Given the description of an element on the screen output the (x, y) to click on. 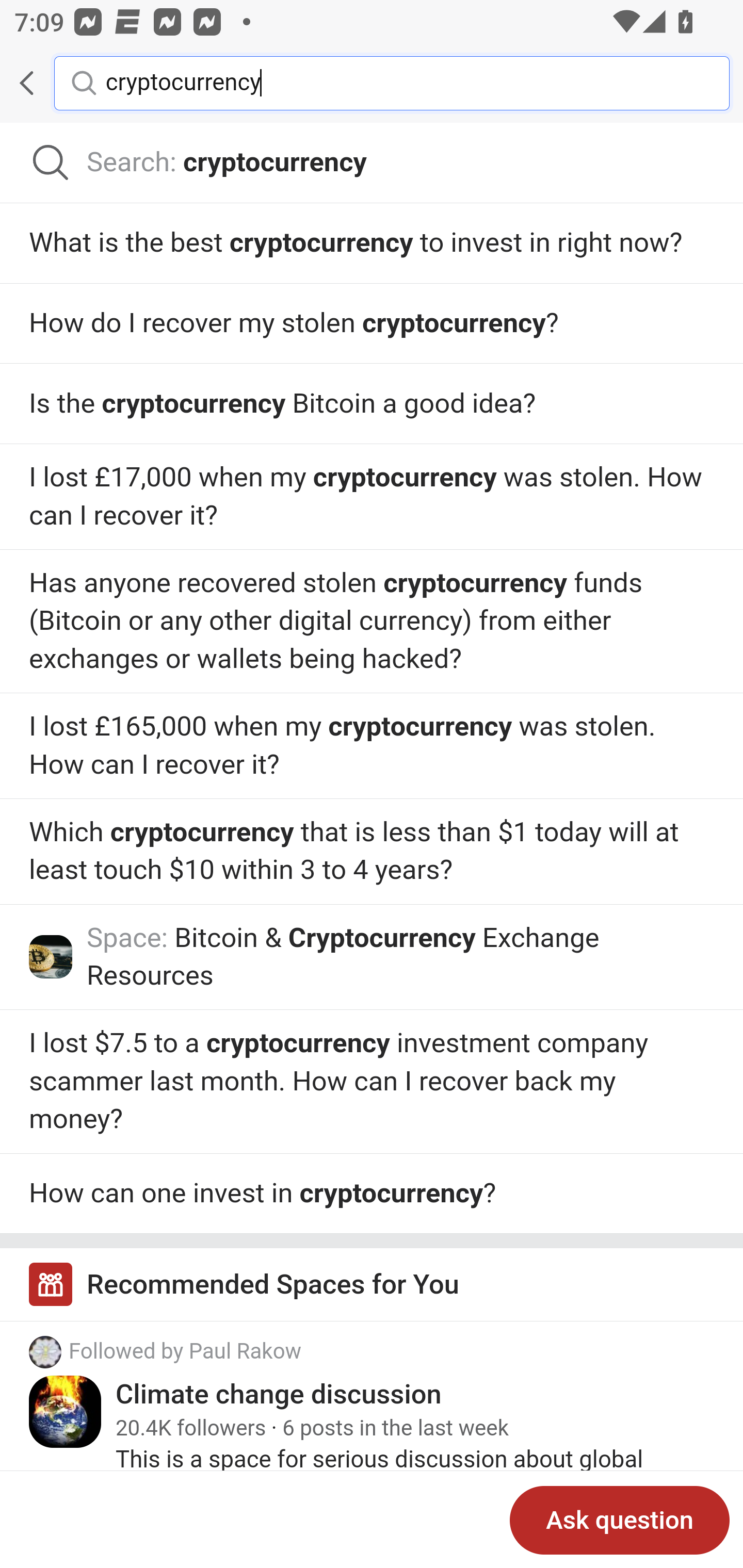
Me Home Search Add (371, 82)
cryptocurrency (402, 82)
Search: c (371, 162)
How do I recover my stolen cryptocurrency? (371, 403)
How do I create a blog? (371, 496)
Can you really make money with cryptocurrencies? (371, 1081)
How can one invest in cryptocurrency? (371, 1193)
Icon for Climate change discussion (65, 1411)
